Given the description of an element on the screen output the (x, y) to click on. 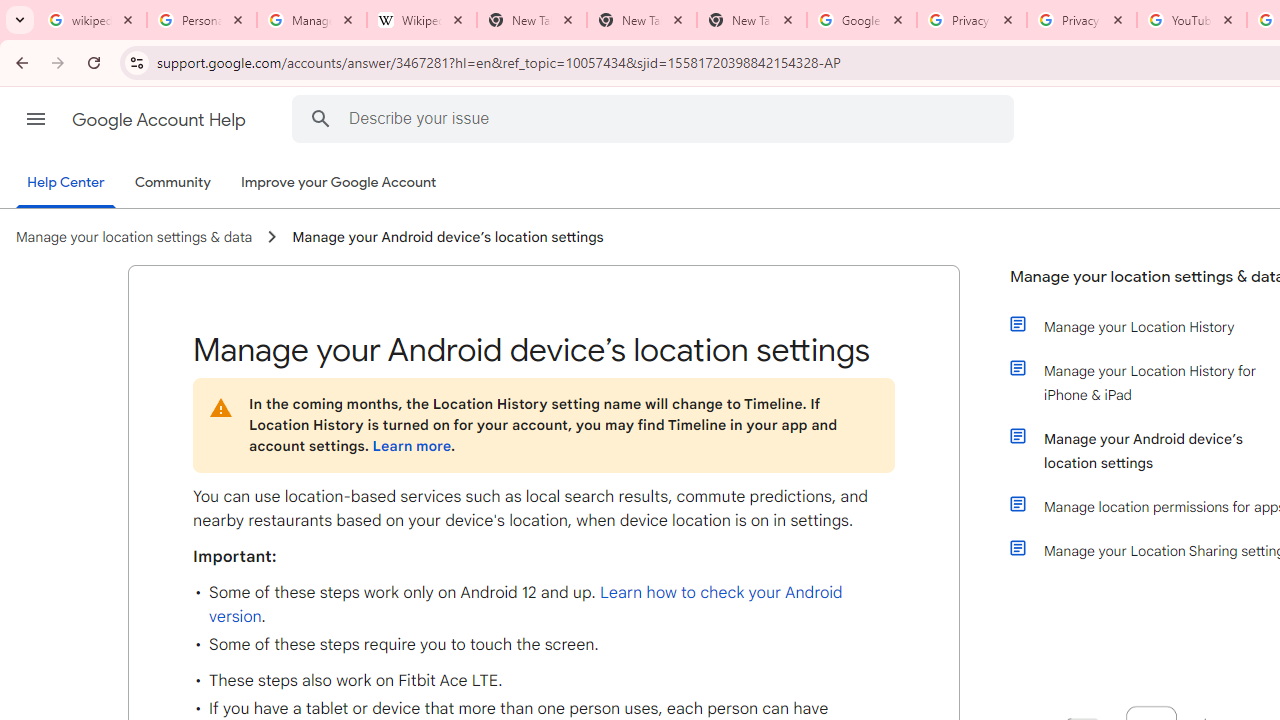
Search Help Center (320, 118)
YouTube (1191, 20)
New Tab (752, 20)
Describe your issue (655, 118)
Wikipedia:Edit requests - Wikipedia (422, 20)
Main menu (35, 119)
Help Center (65, 183)
Manage your location settings & data (134, 237)
